Given the description of an element on the screen output the (x, y) to click on. 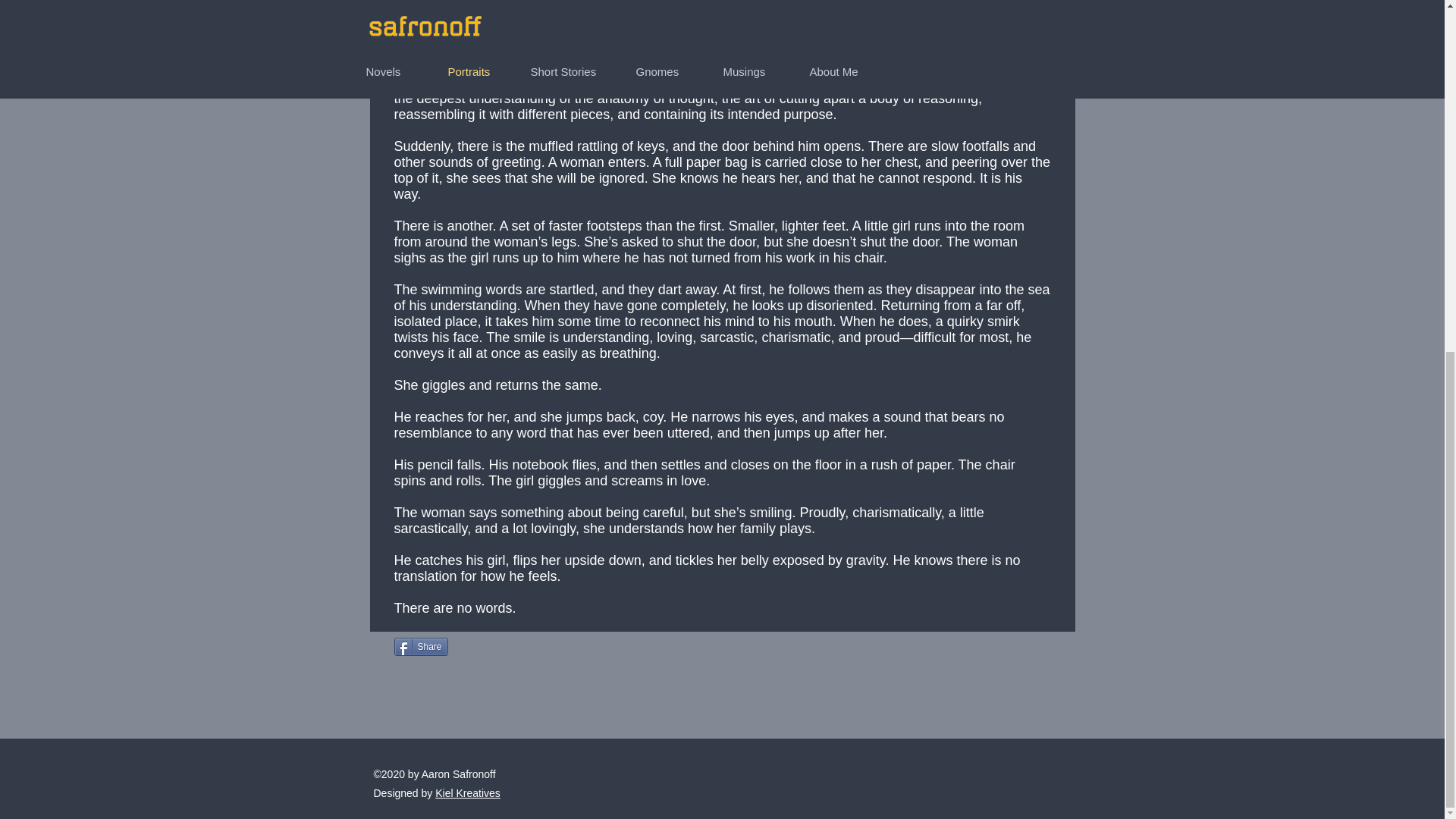
Kiel Kreatives (467, 793)
Twitter Tweet (488, 646)
Share (421, 647)
Share (421, 647)
